Given the description of an element on the screen output the (x, y) to click on. 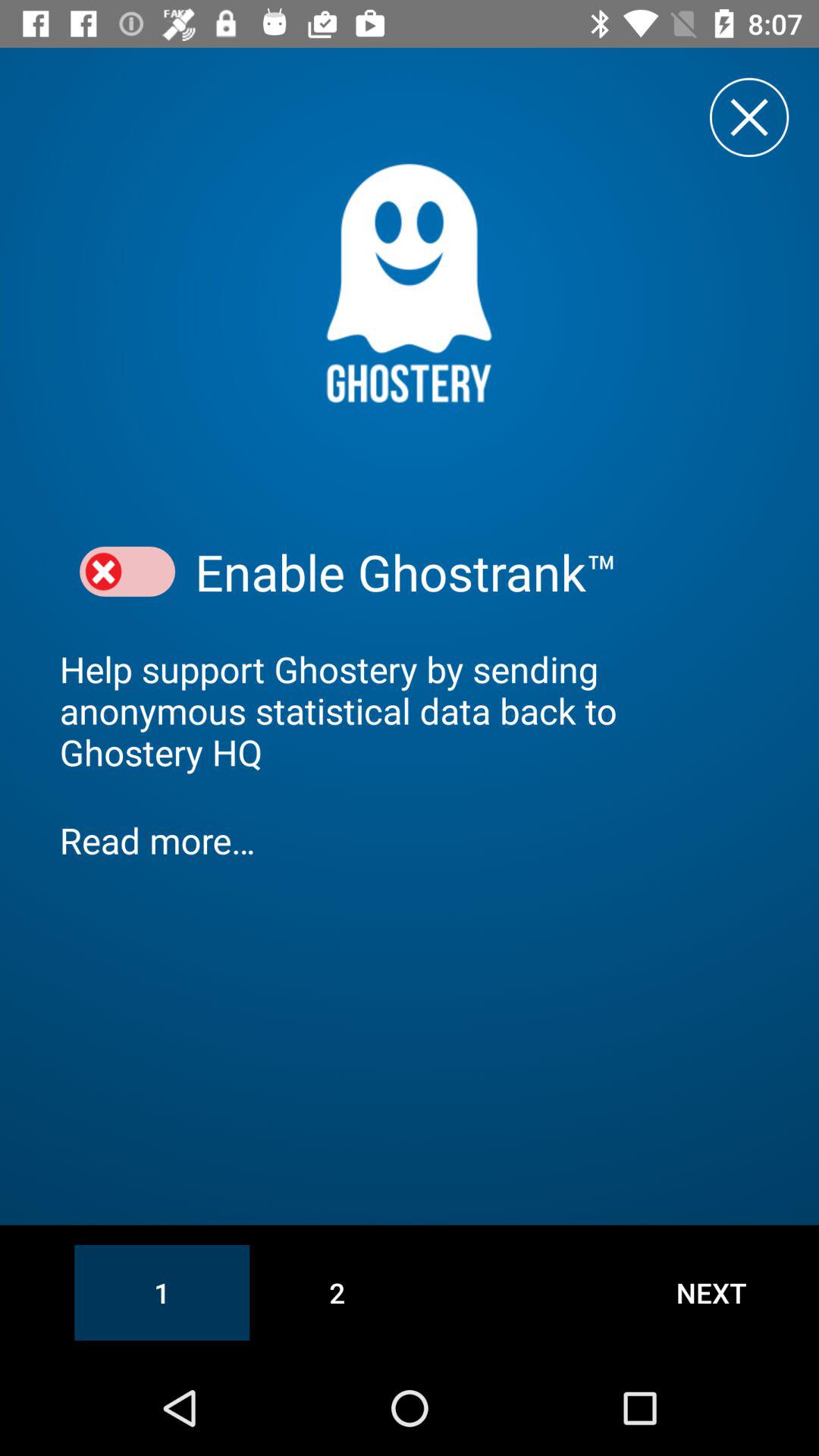
close the advert (749, 117)
